Given the description of an element on the screen output the (x, y) to click on. 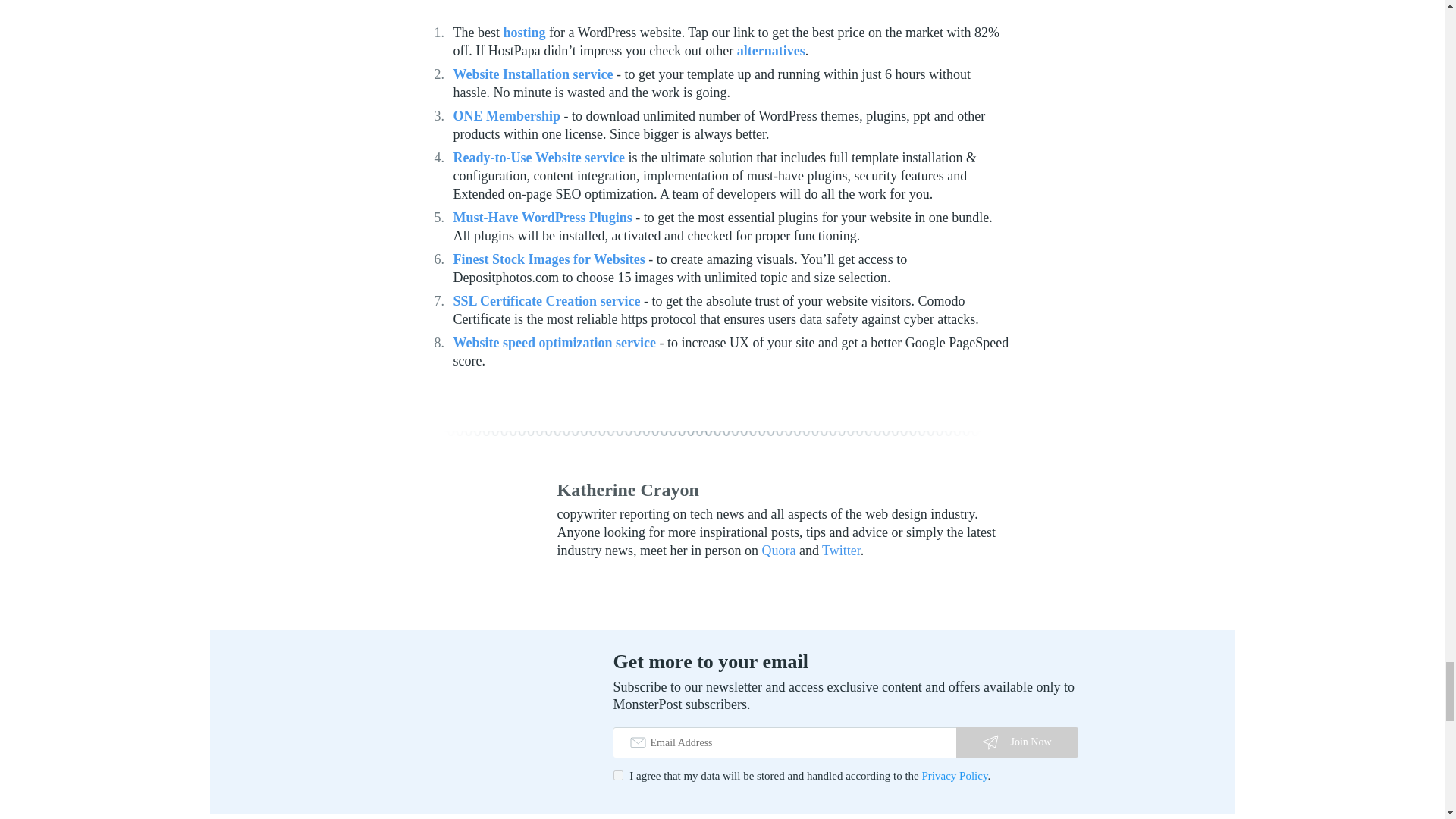
on (617, 775)
